Given the description of an element on the screen output the (x, y) to click on. 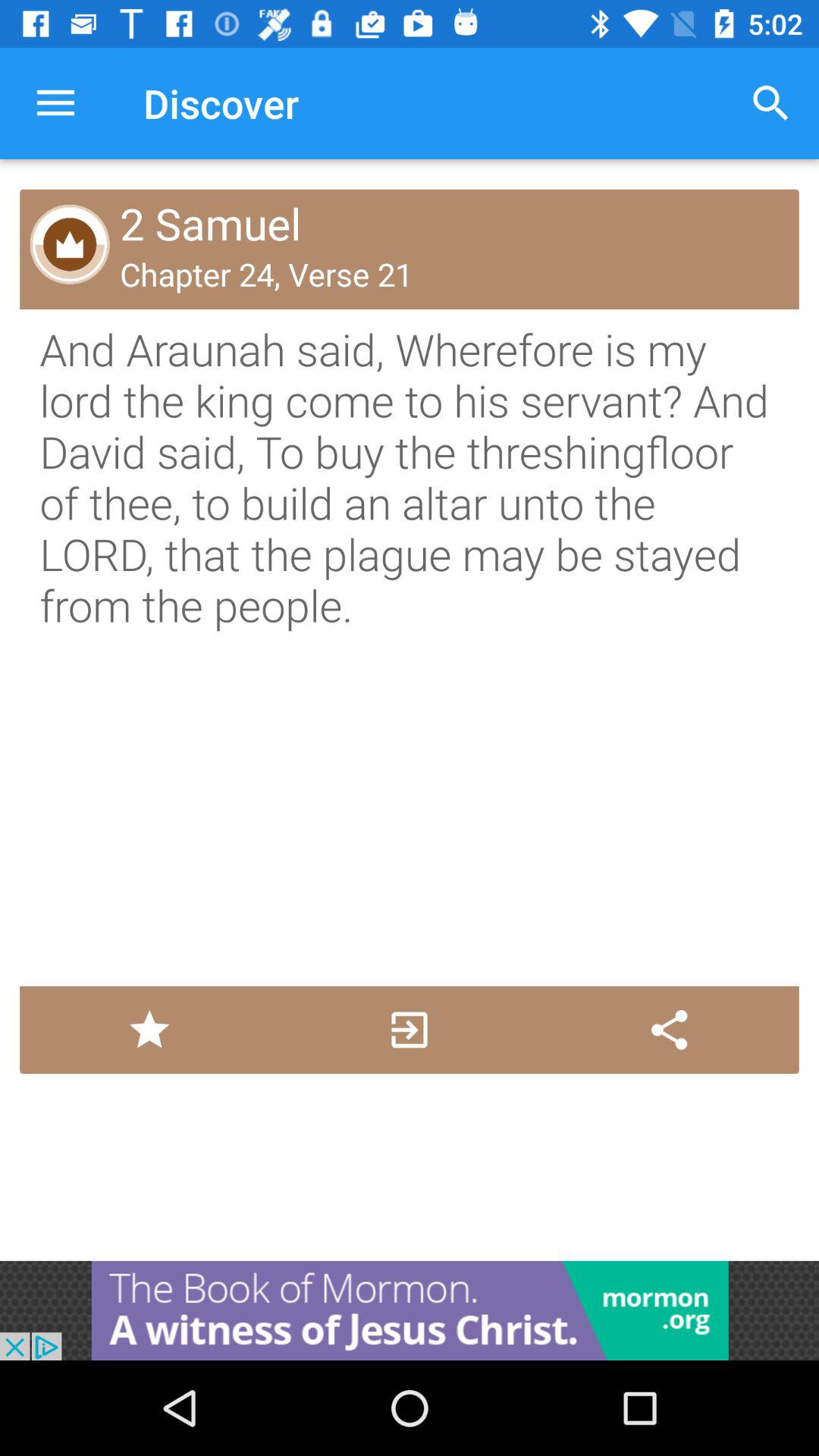
add to your list (149, 1029)
